Given the description of an element on the screen output the (x, y) to click on. 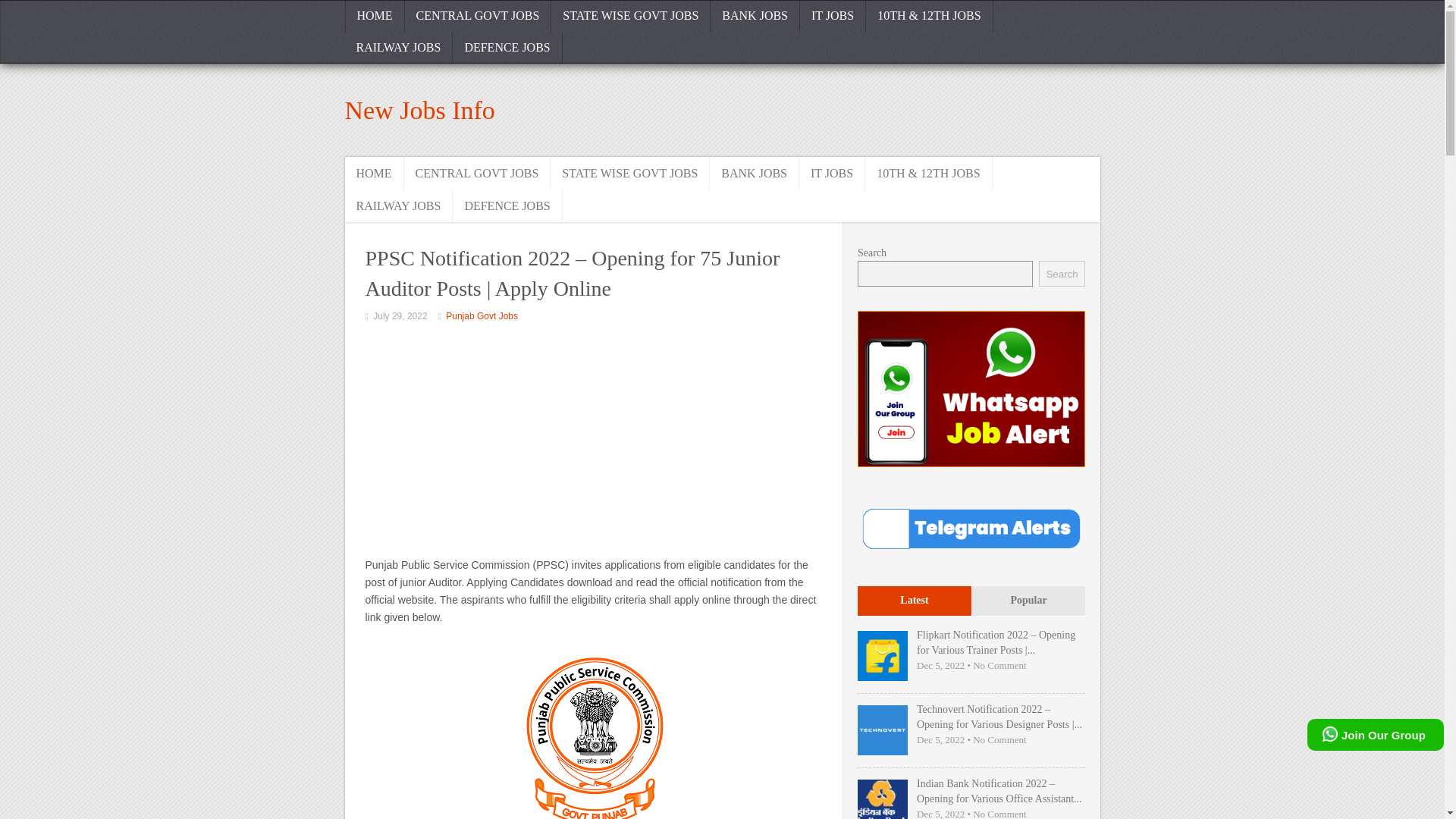
Join Our Group (1375, 735)
HOME (373, 173)
Popular (1027, 601)
IT JOBS (832, 15)
HOME (373, 15)
CENTRAL GOVT JOBS (477, 173)
View all posts in Punjab Govt Jobs (481, 316)
IT JOBS (831, 173)
New Jobs Info (419, 110)
STATE WISE GOVT JOBS (630, 15)
BANK JOBS (754, 15)
RAILWAY JOBS (397, 205)
Punjab Govt Jobs (481, 316)
BANK JOBS (754, 173)
DEFENCE JOBS (507, 205)
